Given the description of an element on the screen output the (x, y) to click on. 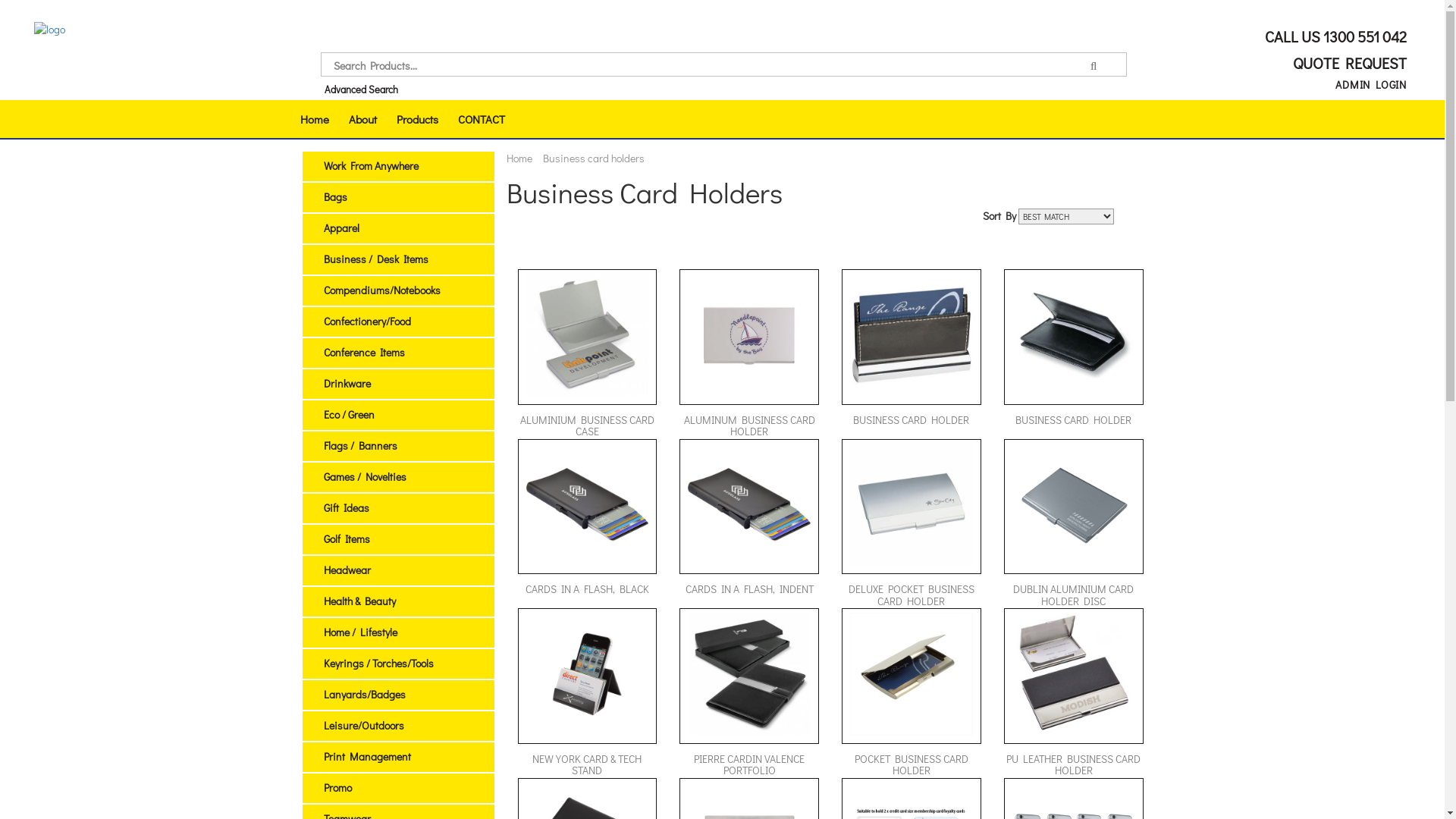
Home Element type: text (519, 157)
Business / Desk Items Element type: text (375, 258)
Pocket Business Card Holder (8839_NOTT) Element type: hover (911, 673)
QUOTE REQUEST Element type: text (1346, 62)
BUSINESS CARD HOLDER Element type: text (1073, 354)
Products Element type: text (417, 118)
About Element type: text (361, 118)
Eco / Green Element type: text (348, 414)
BUSINESS CARD HOLDER Element type: text (911, 354)
PU Leather Business Card Holder (PCS106_PC) Element type: hover (1073, 673)
Apparel Element type: text (340, 227)
Lanyards/Badges Element type: text (363, 694)
Drinkware Element type: text (346, 383)
Business Card Holder (1003_NOTT) Element type: hover (911, 334)
PIERRE CARDIN VALENCE PORTFOLIO Element type: text (749, 693)
Business card holders Element type: text (593, 157)
Conference Items Element type: text (363, 352)
Aluminium Business Card Case (100743_TRDZ) Element type: hover (587, 334)
Pierre Cardin Valence Portfolio (120580_TRDZ) Element type: hover (748, 673)
Home / Lifestyle Element type: text (359, 631)
Aluminum Business Card Holder (PCS107_PC) Element type: hover (748, 334)
NEW YORK CARD & TECH STAND Element type: text (586, 693)
Leisure/Outdoors Element type: text (363, 725)
POCKET BUSINESS CARD HOLDER Element type: text (911, 693)
Flags / Banners Element type: text (359, 445)
CARDS IN A FLASH, BLACK Element type: text (586, 523)
Headwear Element type: text (346, 569)
DELUXE POCKET BUSINESS CARD HOLDER Element type: text (911, 523)
Business Card Holder (972_NOTT) Element type: hover (1073, 334)
Confectionery/Food Element type: text (366, 320)
PU LEATHER BUSINESS CARD HOLDER Element type: text (1073, 693)
ALUMINUM BUSINESS CARD HOLDER Element type: text (749, 354)
Bags Element type: text (334, 196)
Games / Novelties Element type: text (364, 476)
CALL US 1300 551 042 Element type: text (1333, 36)
Keyrings / Torches/Tools Element type: text (378, 662)
ADMIN LOGIN Element type: text (1370, 84)
Dublin Aluminium Card Holder DISC (C4704_PREMIER) Element type: hover (1073, 504)
ALUMINIUM BUSINESS CARD CASE Element type: text (586, 354)
Compendiums/Notebooks Element type: text (381, 289)
Deluxe Pocket Business Card Holder (D512_PB) Element type: hover (911, 504)
Cards in a Flash, Black (C6800_PREMIER) Element type: hover (587, 504)
Promo Element type: text (337, 787)
Gift Ideas Element type: text (345, 507)
Golf Items Element type: text (346, 538)
New York Card & Tech Stand (G9730
_PREMIER) Element type: hover (587, 673)
Home Element type: text (313, 118)
Cards in a Flash, Indent (C6800I_PREMIER) Element type: hover (748, 504)
CARDS IN A FLASH, INDENT Element type: text (749, 523)
Health & Beauty Element type: text (359, 600)
Work From Anywhere Element type: text (370, 165)
CONTACT Element type: text (480, 118)
Print Management Element type: text (366, 756)
DUBLIN ALUMINIUM CARD HOLDER DISC Element type: text (1073, 523)
Advanced Search Element type: text (361, 88)
